Given the description of an element on the screen output the (x, y) to click on. 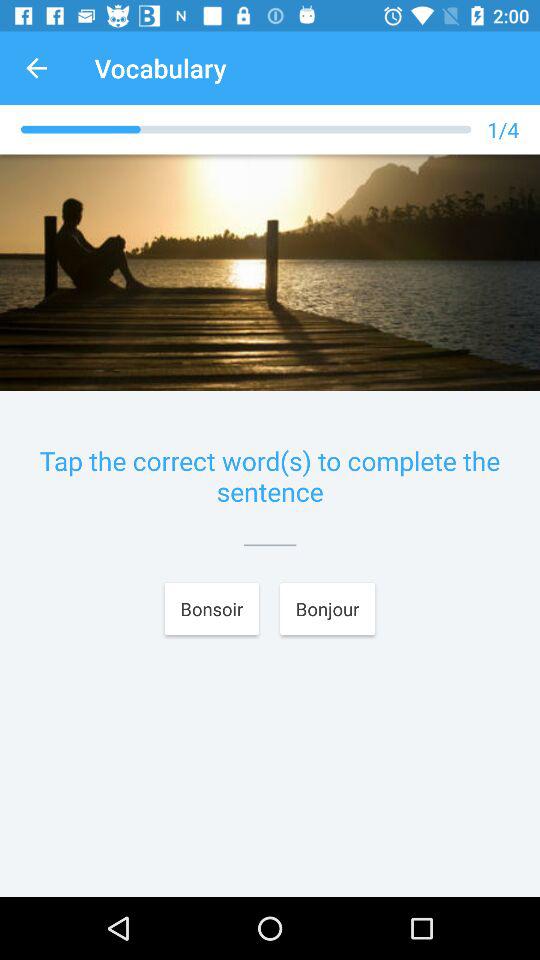
turn on the icon to the left of the vocabulary (36, 68)
